Given the description of an element on the screen output the (x, y) to click on. 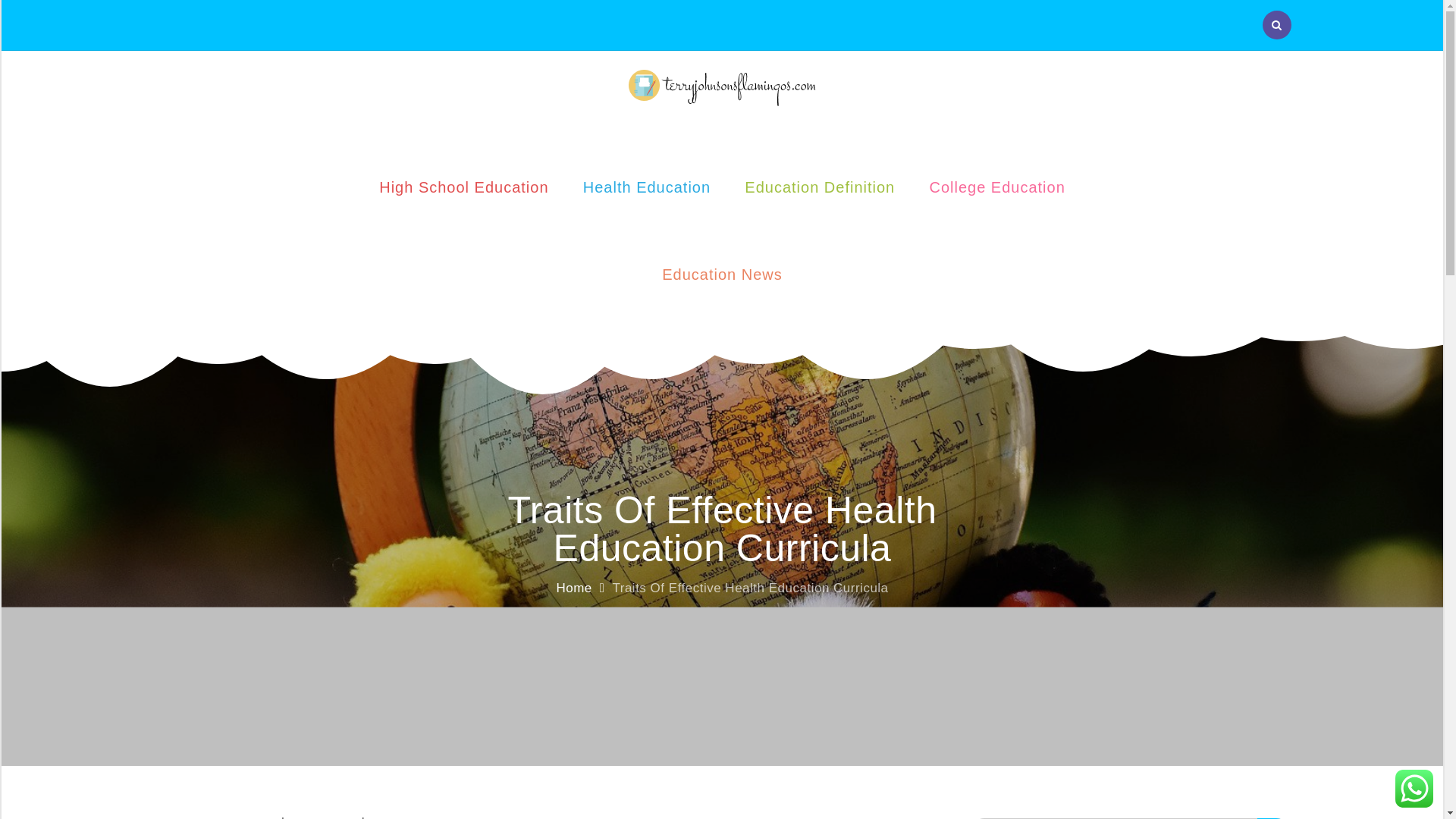
TJF (721, 116)
Home (573, 587)
Education News (721, 267)
October 5, 2022 (425, 815)
College Education (997, 179)
Health Education (646, 179)
Search (1274, 818)
Education Definition (819, 179)
Mikroba (325, 817)
High School Education (463, 179)
